Given the description of an element on the screen output the (x, y) to click on. 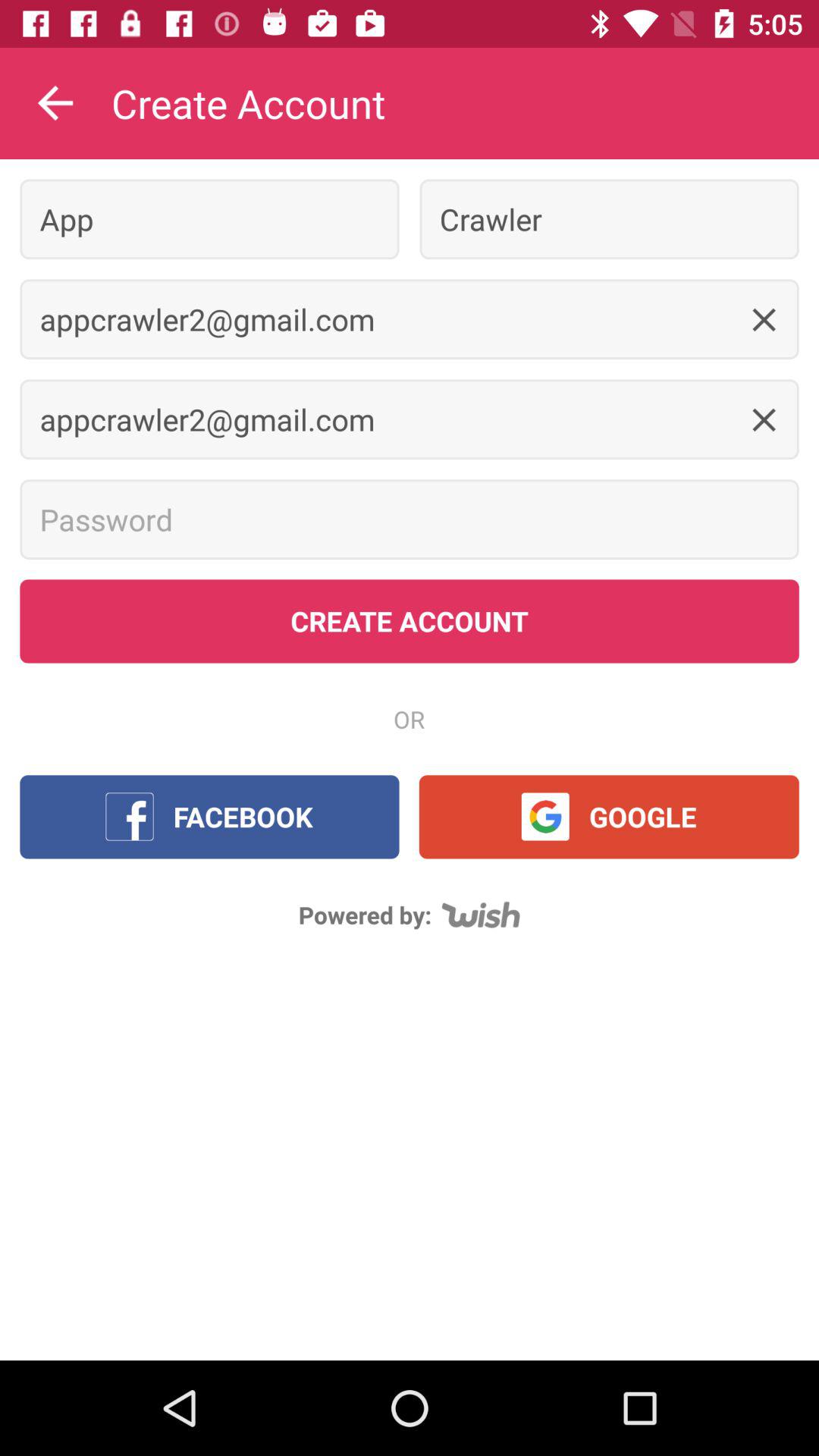
flip to app item (209, 219)
